Given the description of an element on the screen output the (x, y) to click on. 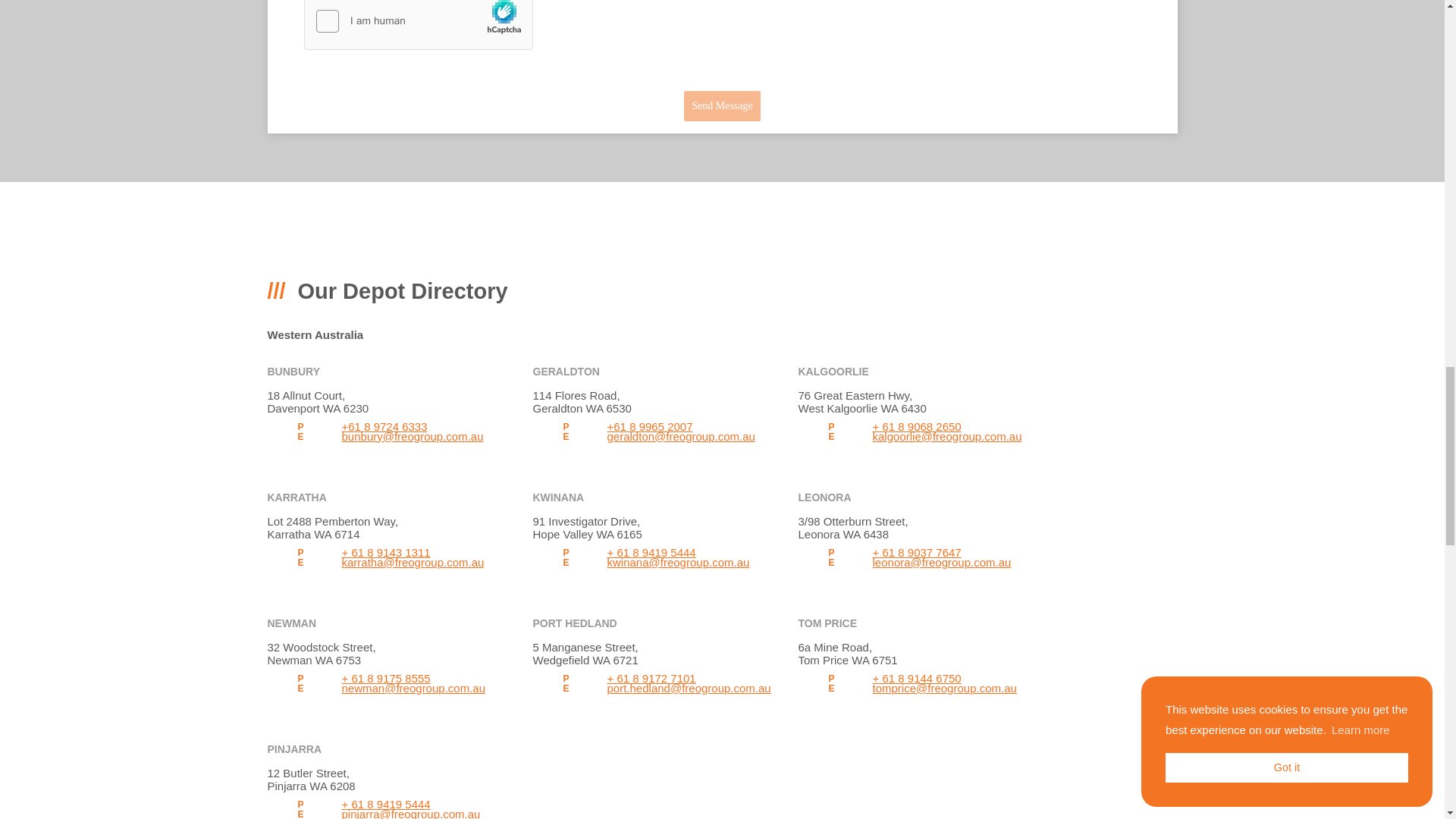
Send Message (722, 105)
